Given the description of an element on the screen output the (x, y) to click on. 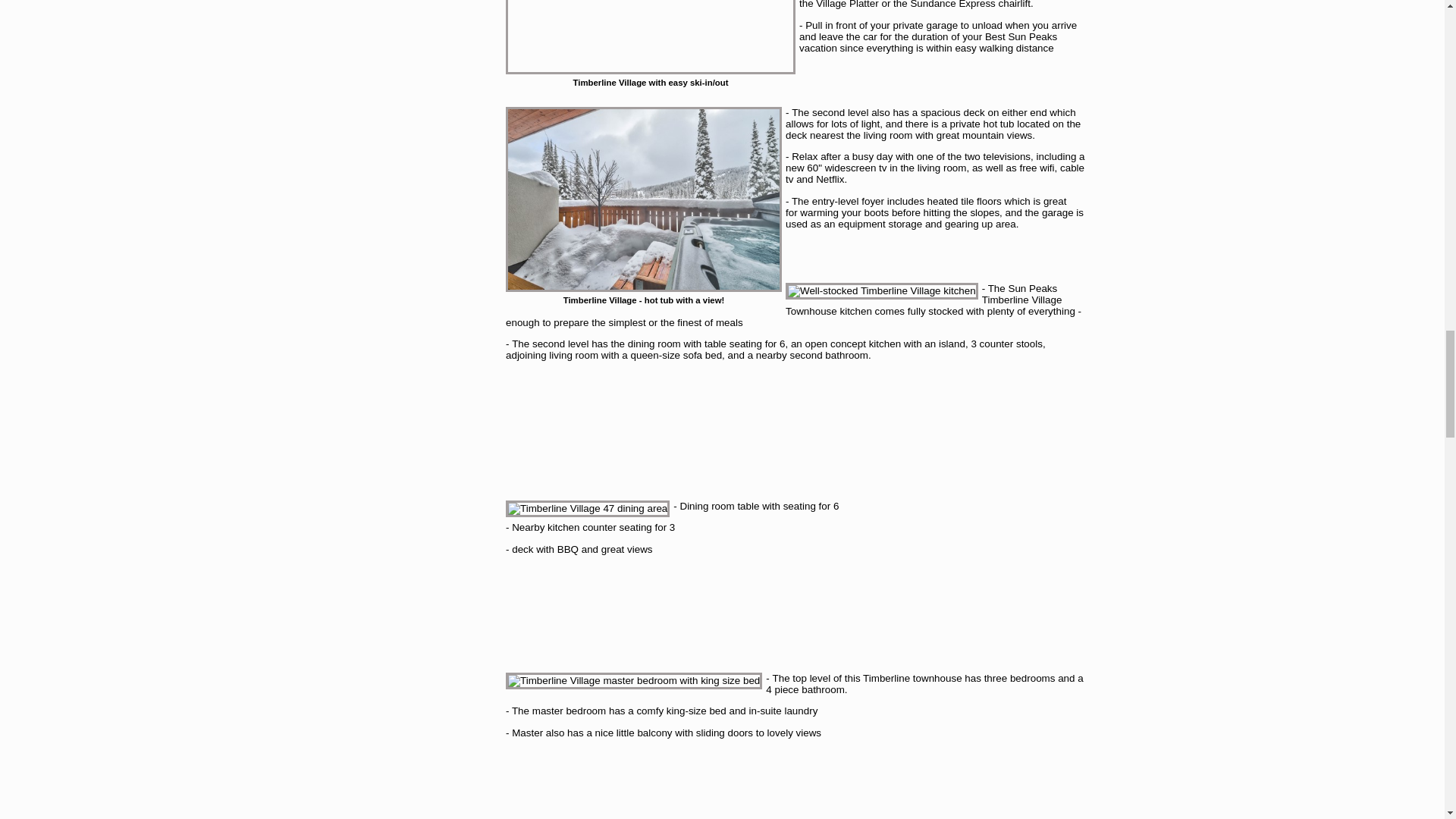
Timberline Village master bedroom with king size bed (633, 680)
Timberline Village 47 dining area (587, 508)
Well-stocked Timberline Village kitchen (882, 290)
Timberline Village sun deck (643, 199)
